Given the description of an element on the screen output the (x, y) to click on. 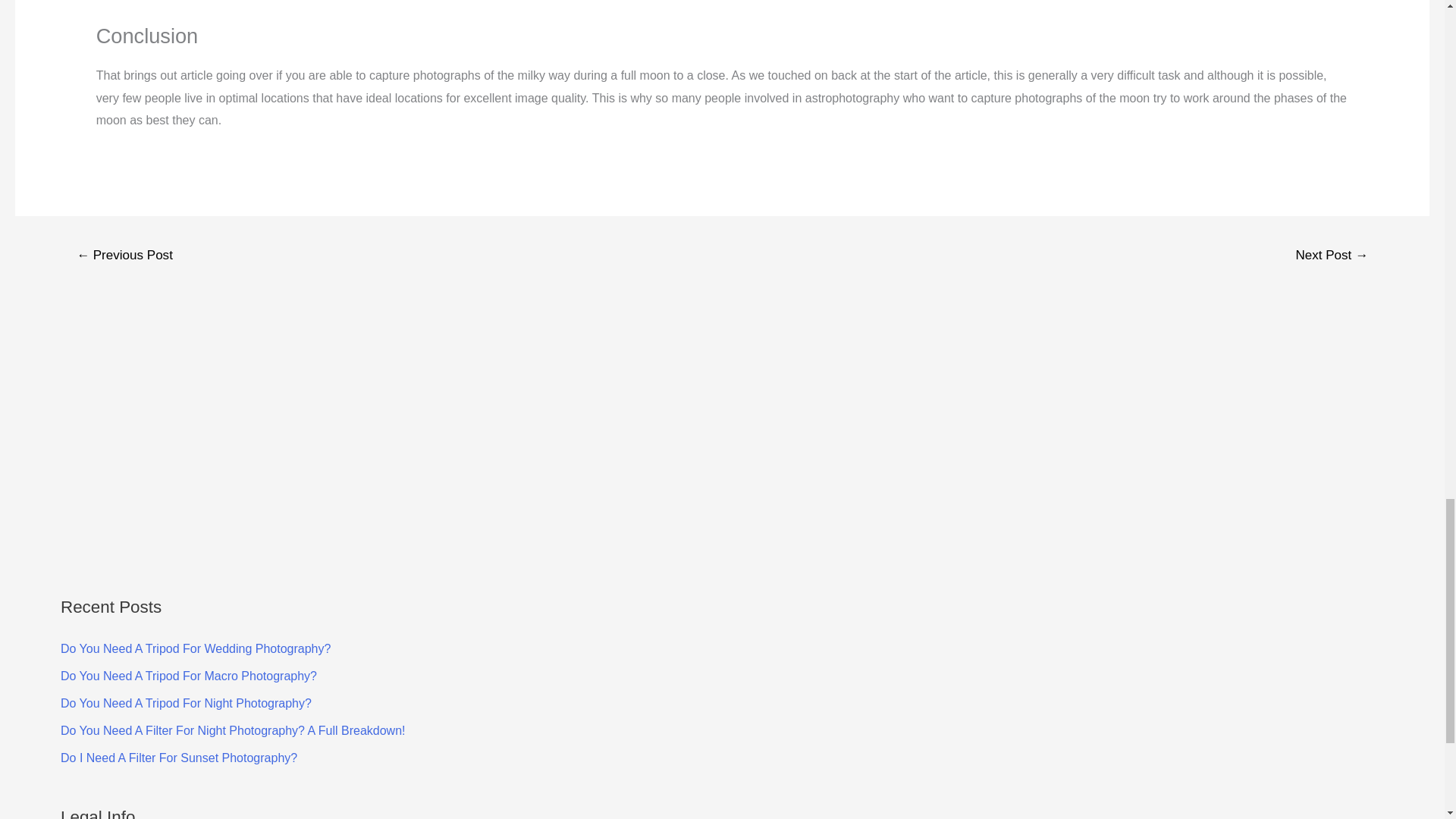
Do You Need A Tripod For Macro Photography? (189, 675)
Do You Need A Tripod For Night Photography? (186, 703)
Do You Need A Tripod For Wedding Photography? (195, 648)
Do I Need A Filter For Sunset Photography? (179, 757)
